Given the description of an element on the screen output the (x, y) to click on. 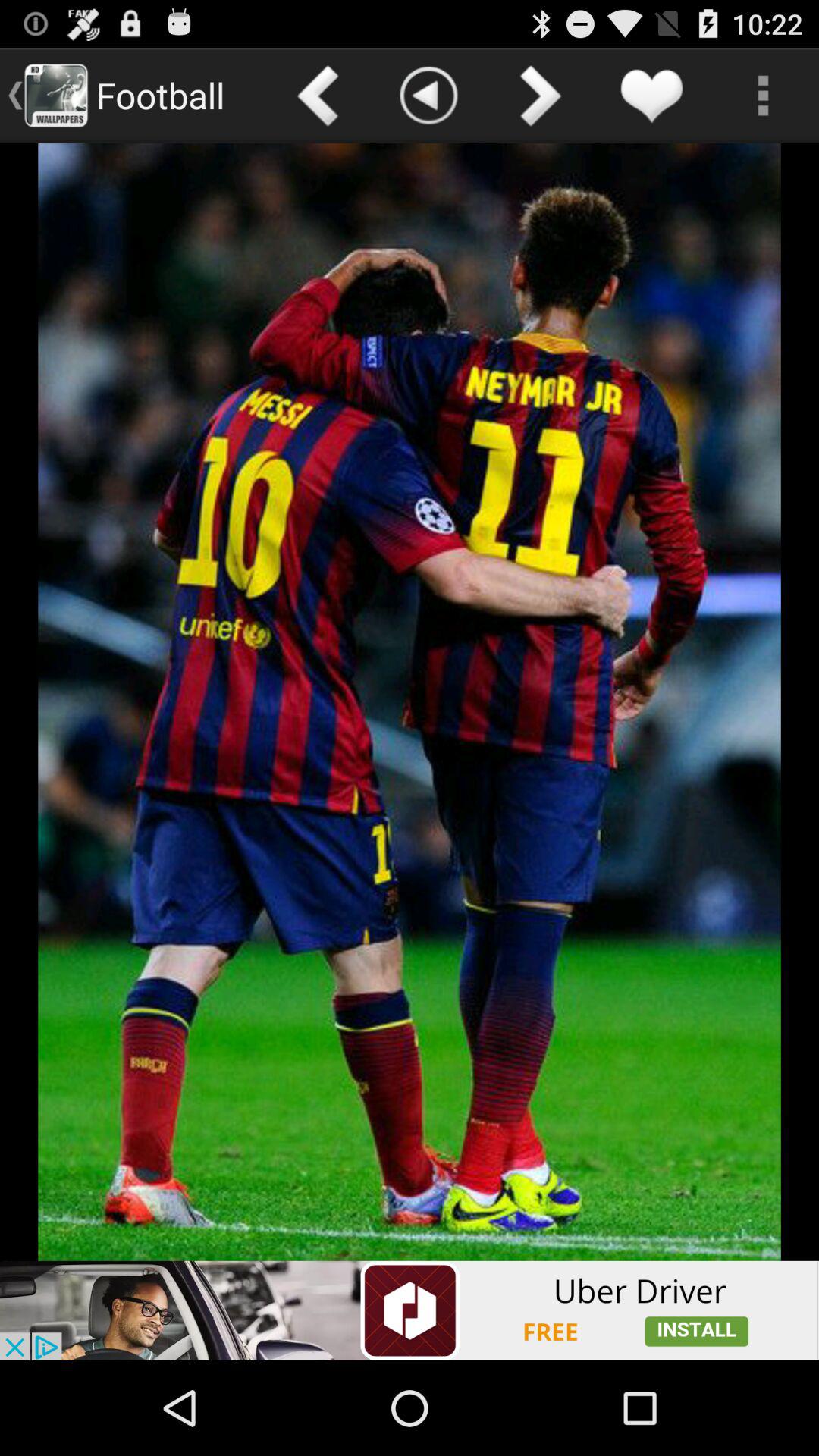
advertisement link (409, 1310)
